Given the description of an element on the screen output the (x, y) to click on. 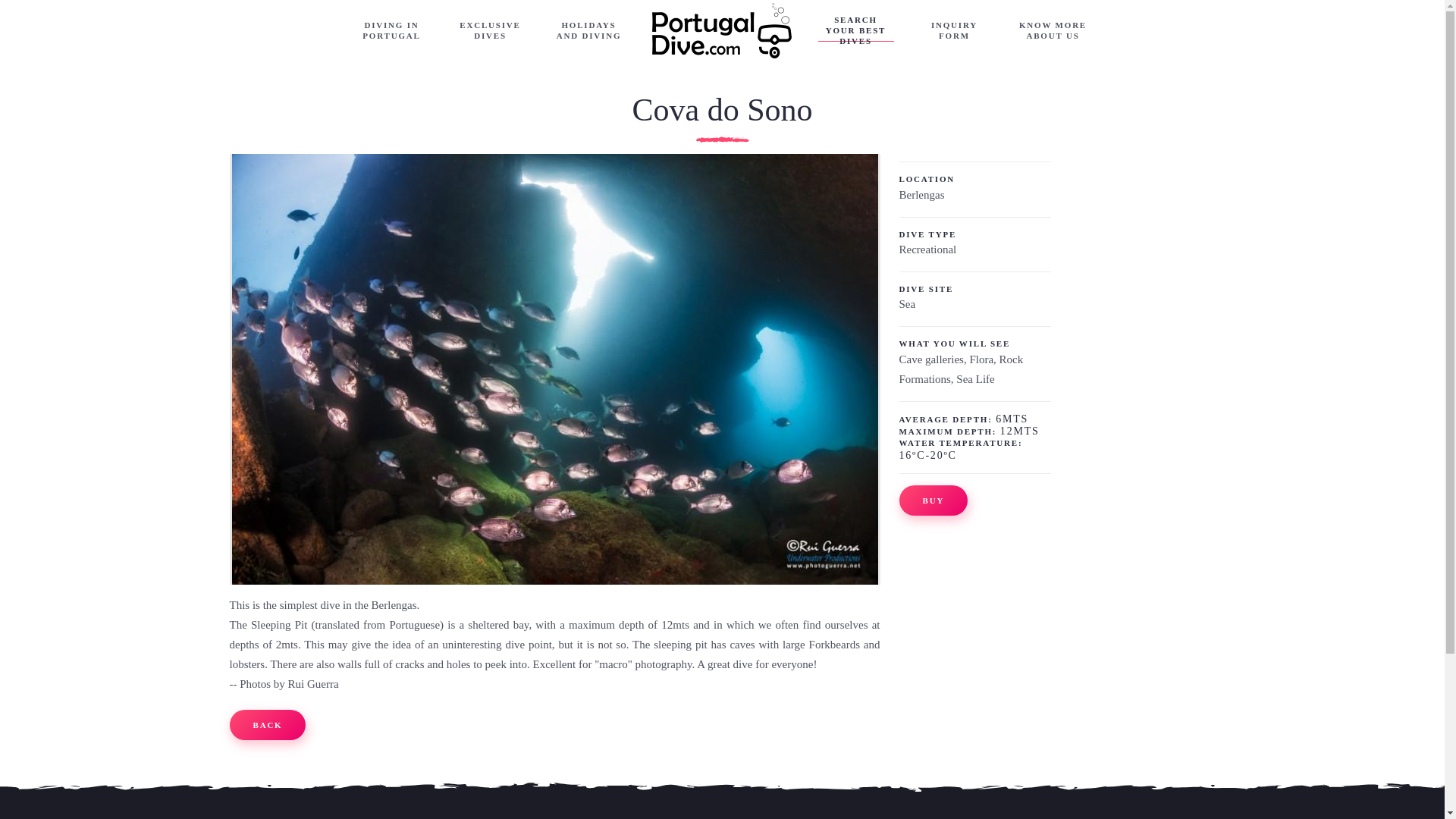
DIVING IN PORTUGAL (391, 30)
HOLIDAYS AND DIVING (589, 30)
EXCLUSIVE DIVES (490, 30)
